Given the description of an element on the screen output the (x, y) to click on. 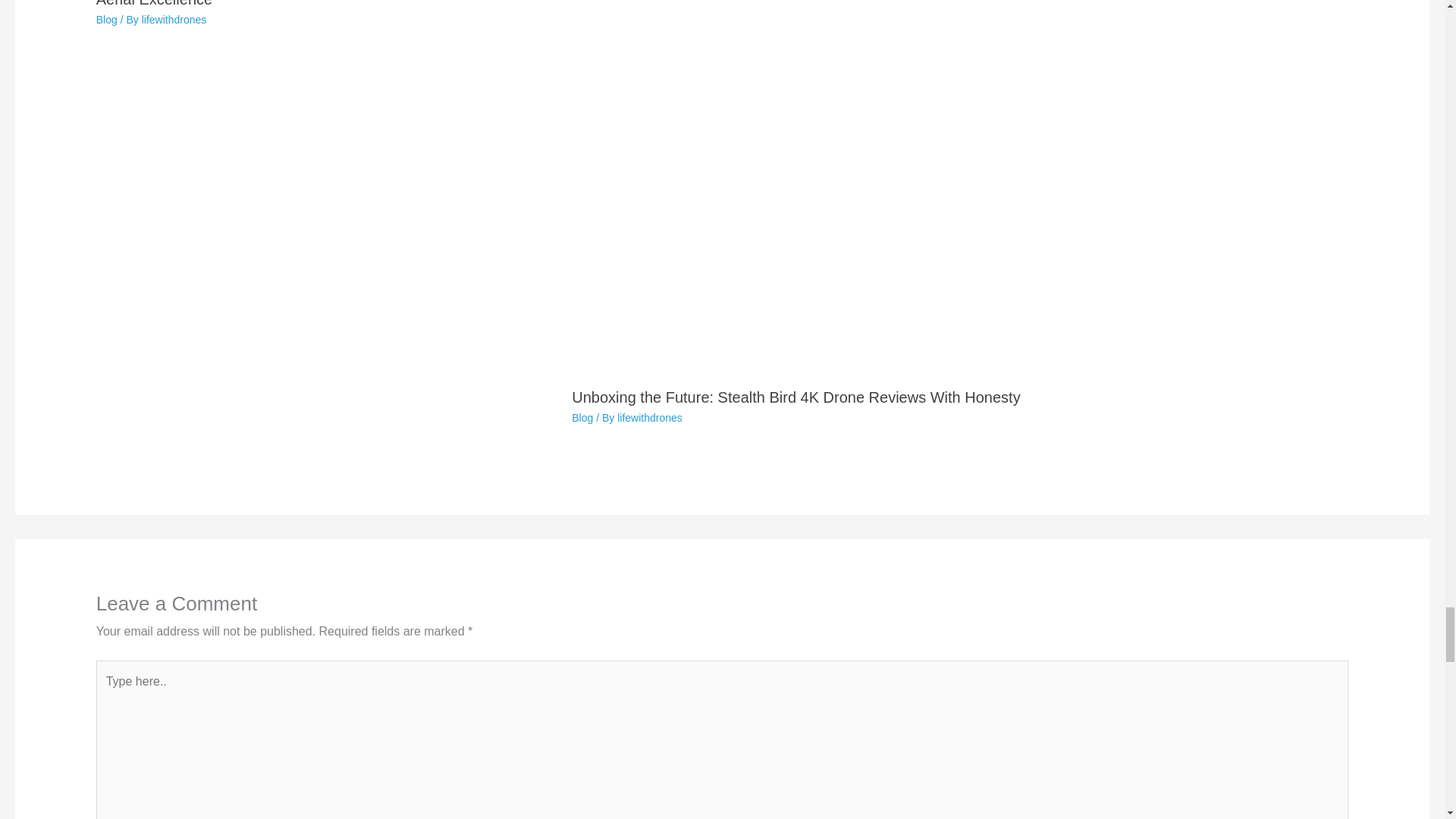
Blog (582, 417)
View all posts by lifewithdrones (173, 19)
Blog (106, 19)
lifewithdrones (173, 19)
lifewithdrones (649, 417)
View all posts by lifewithdrones (649, 417)
